Given the description of an element on the screen output the (x, y) to click on. 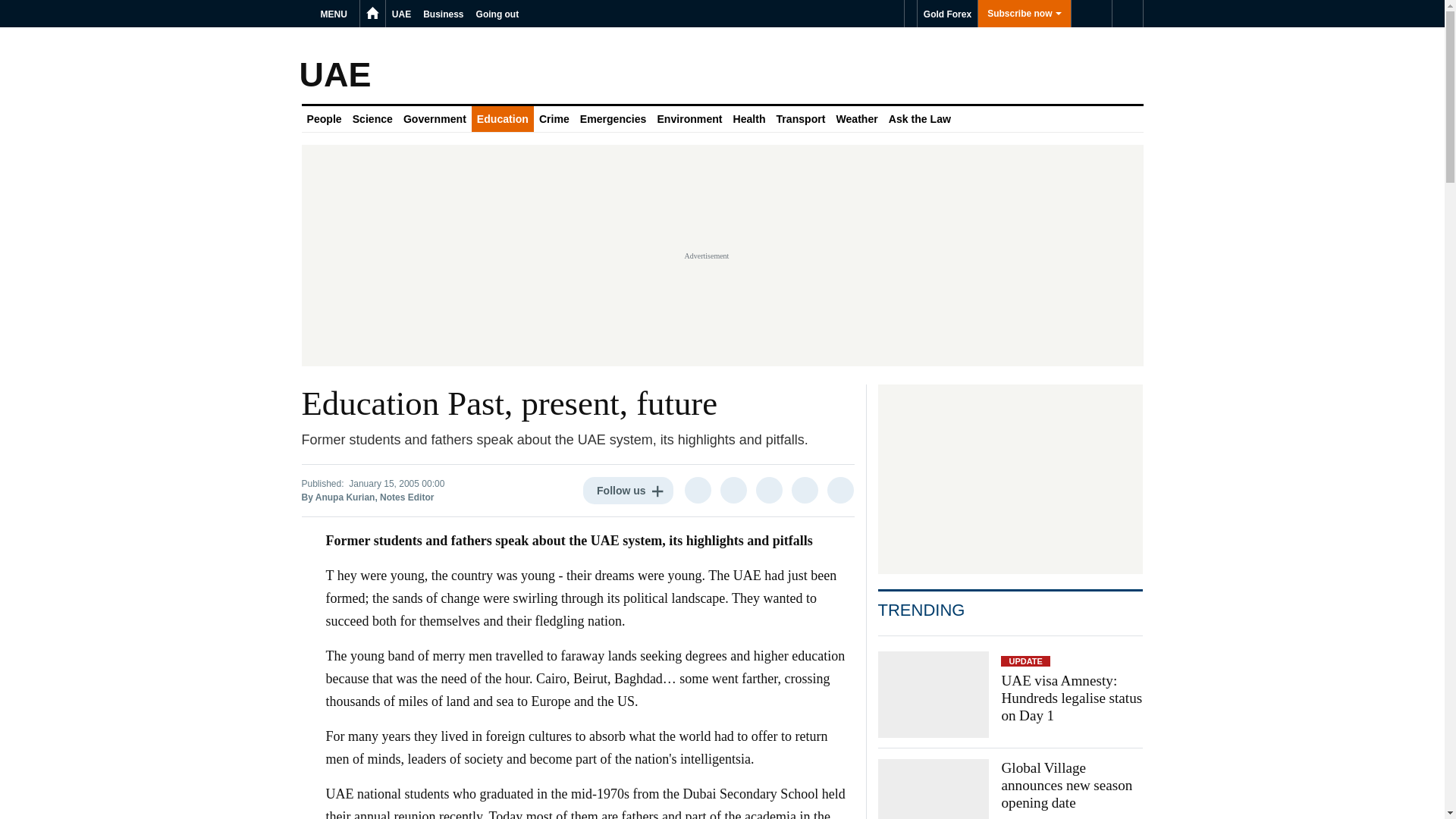
Business (442, 13)
Subscribe now (1024, 13)
Gold Forex (946, 13)
UAE (400, 13)
MENU (336, 13)
Going out (497, 13)
